Given the description of an element on the screen output the (x, y) to click on. 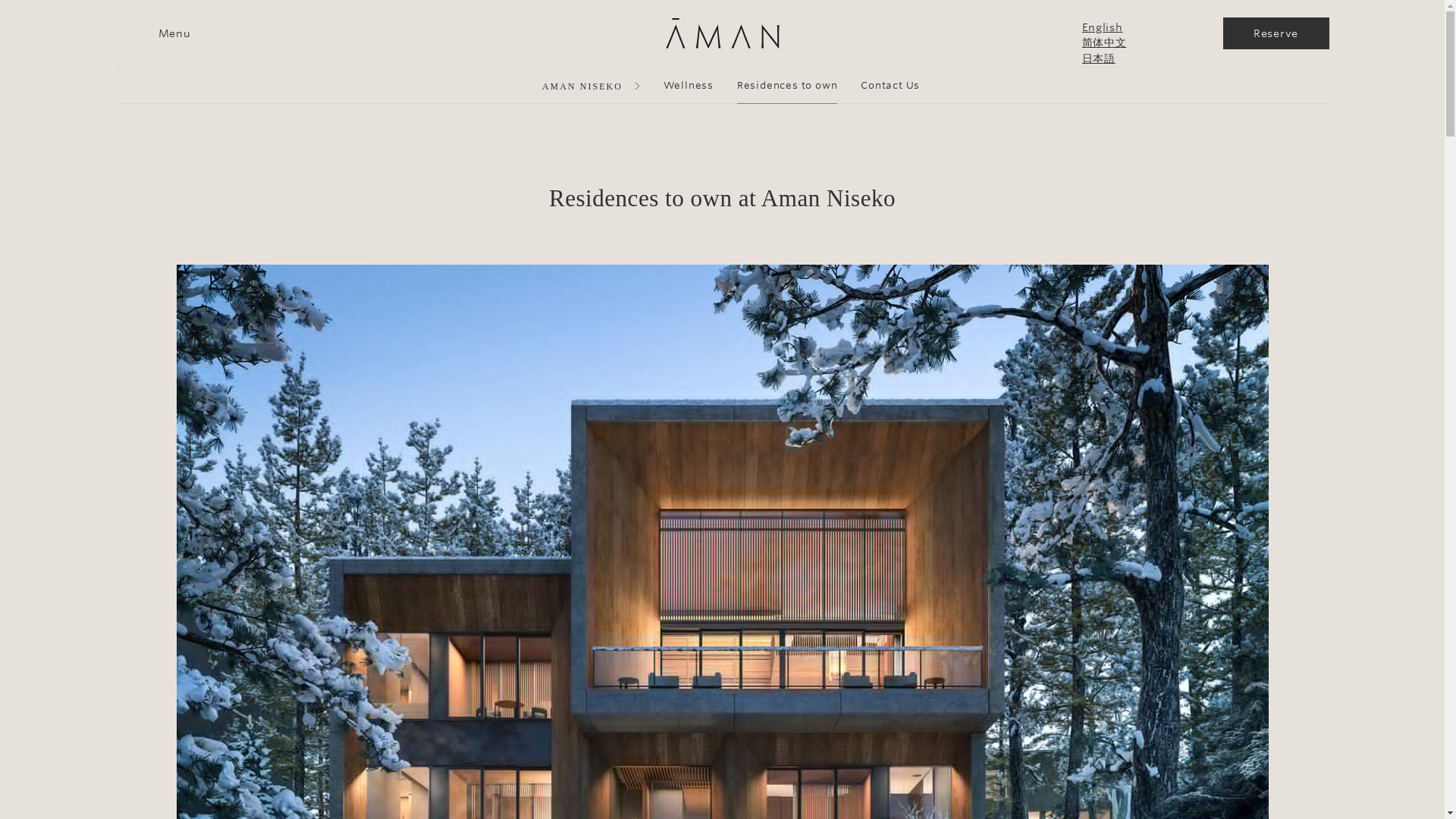
Reserve (1276, 33)
Aman resorts (721, 33)
English (1130, 27)
Menu (152, 33)
